Given the description of an element on the screen output the (x, y) to click on. 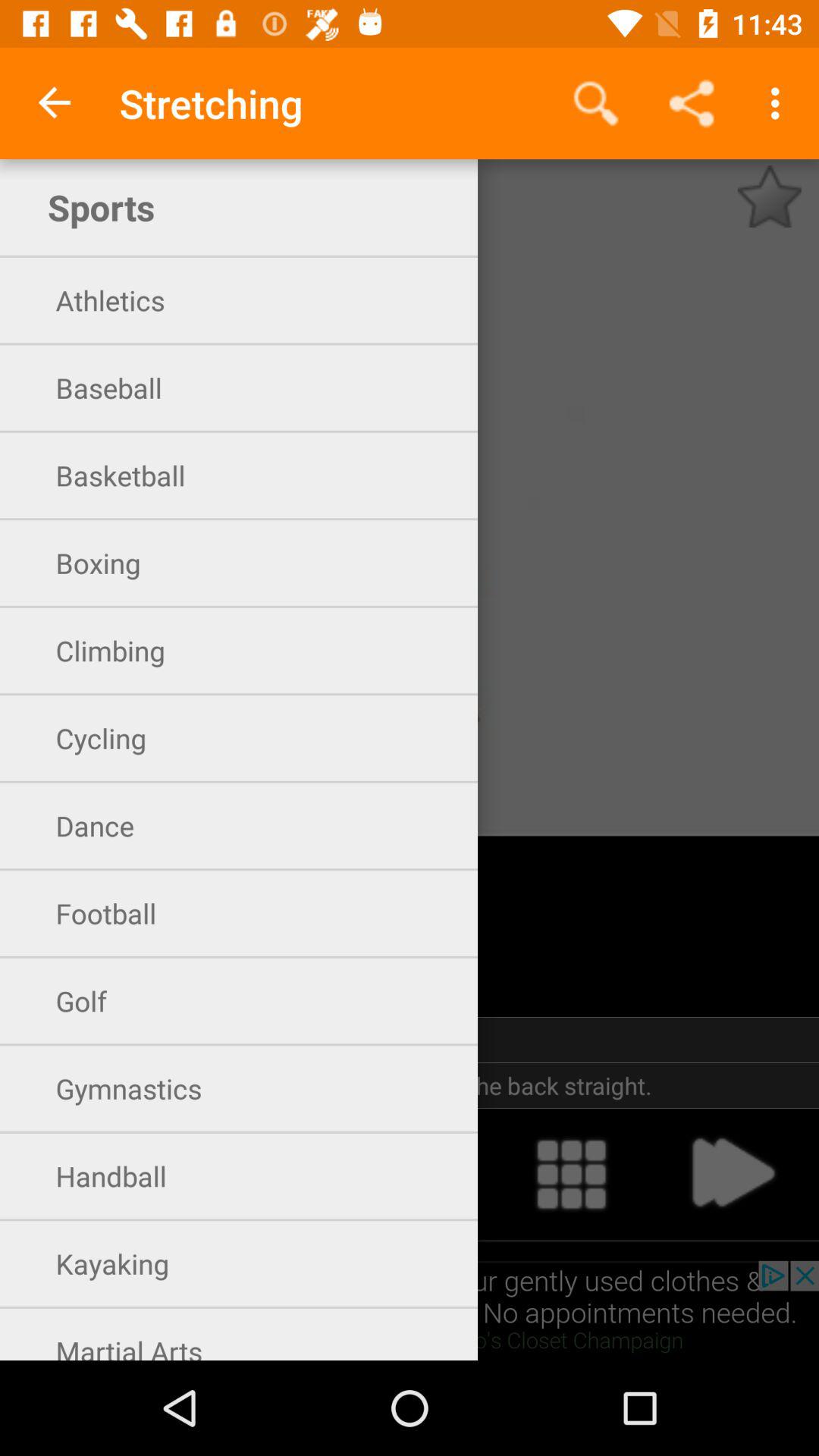
menu button (570, 1174)
